Given the description of an element on the screen output the (x, y) to click on. 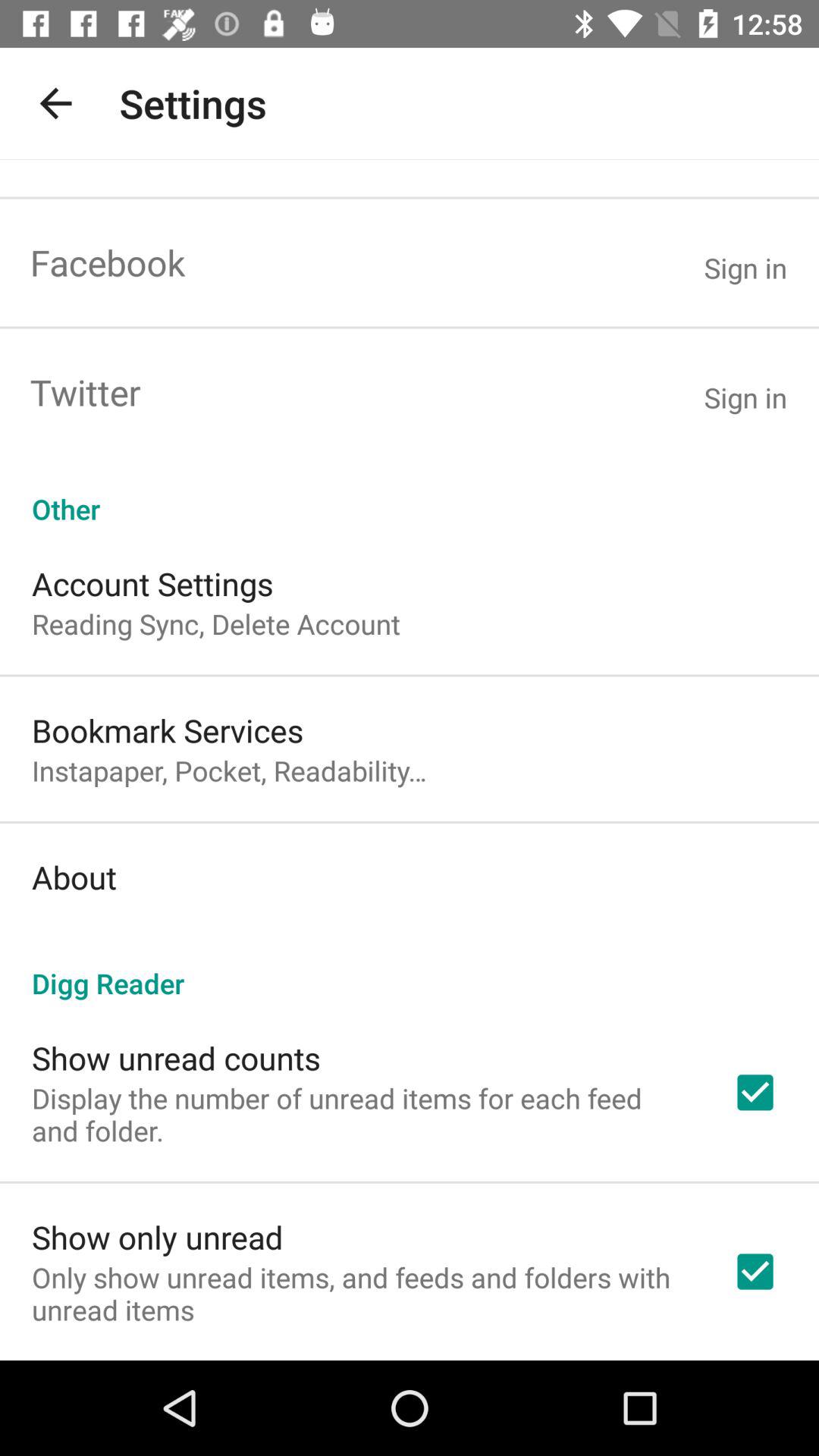
click app to the left of the sign in (85, 391)
